Given the description of an element on the screen output the (x, y) to click on. 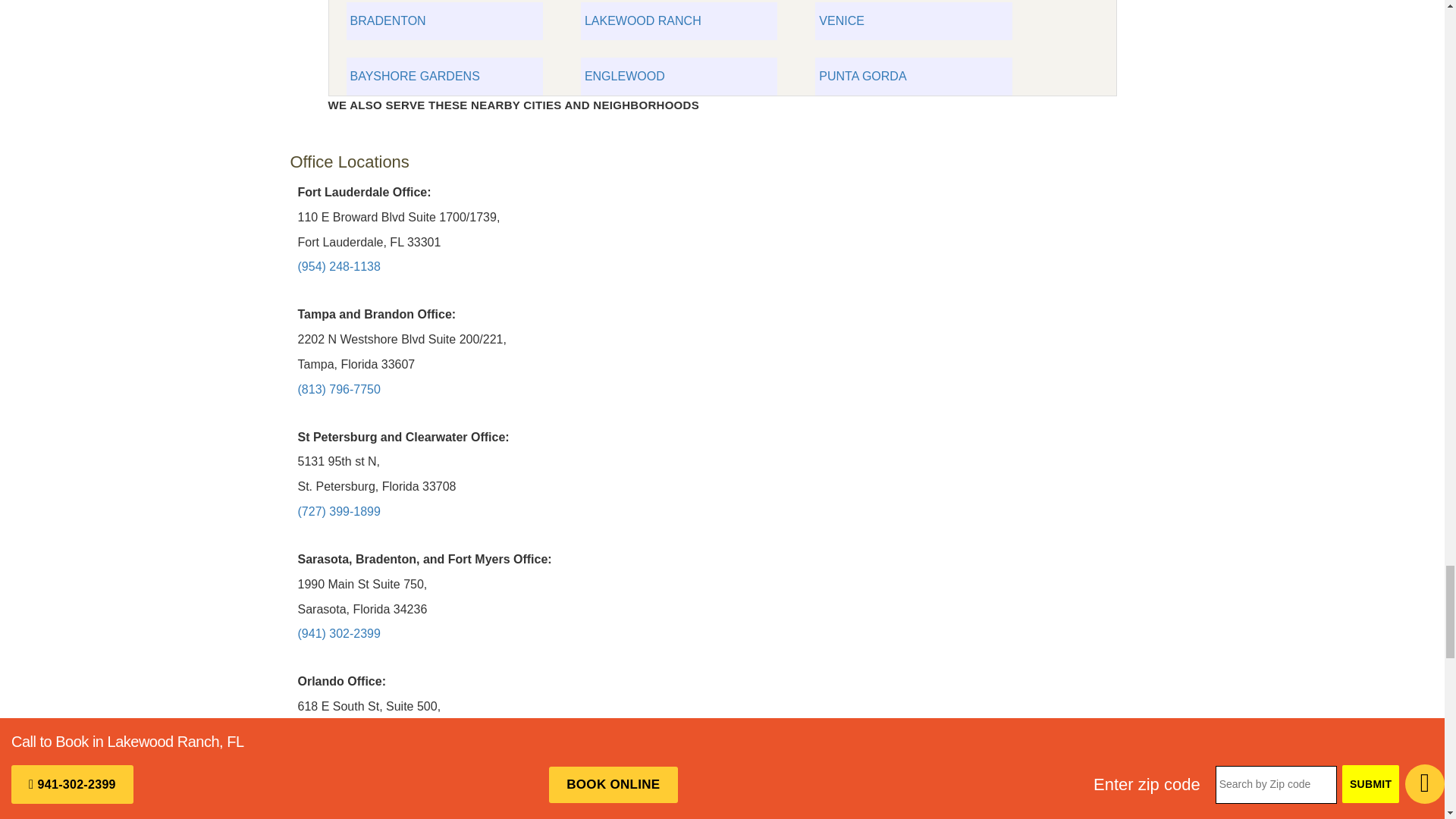
Manatee - T229 - Bradenton FL (444, 21)
Sarasota - T229 - Englewood FL (678, 76)
Manatee - T229 - Bayshore Gardens FL (444, 76)
Sarasota - T229 - Venice FL (913, 21)
Manatee - T229 - Lakewood Ranch FL (678, 21)
